Given the description of an element on the screen output the (x, y) to click on. 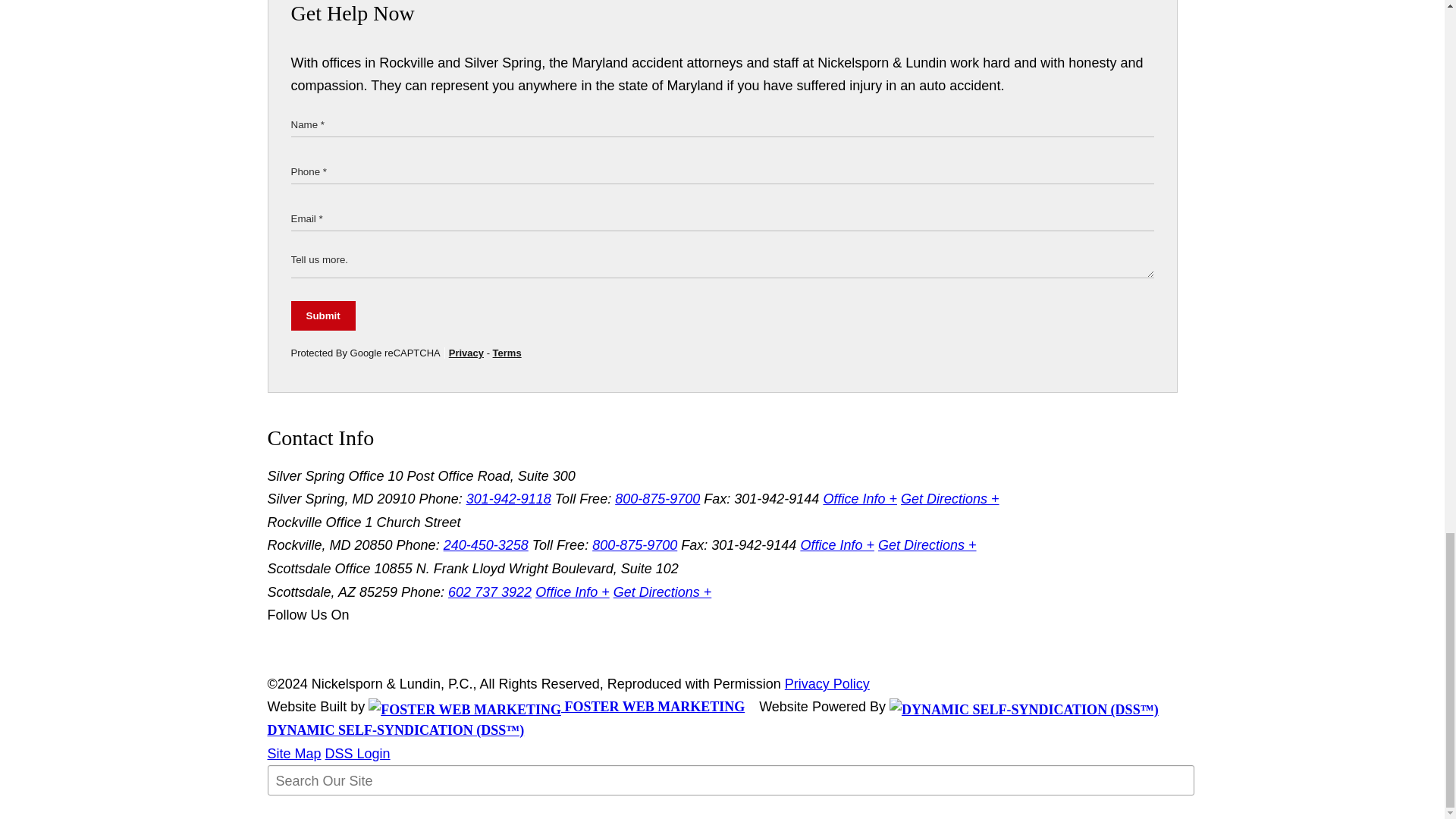
800-875-9700 (634, 544)
Privacy (465, 352)
Terms (507, 352)
301-942-9118 (508, 498)
Submit (323, 315)
800-875-9700 (657, 498)
240-450-3258 (486, 544)
